Given the description of an element on the screen output the (x, y) to click on. 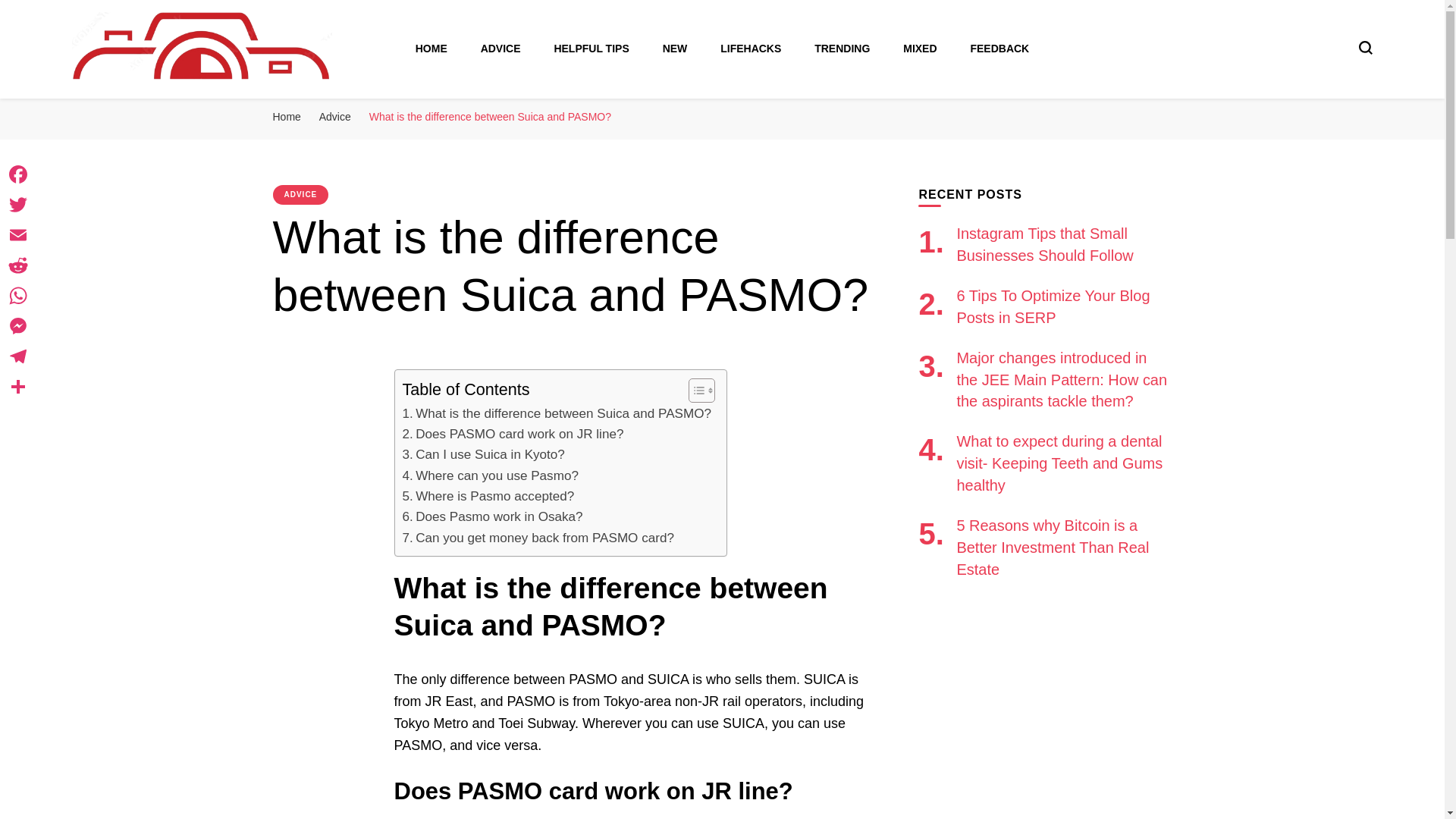
Ventolaphotography.com (315, 110)
What is the difference between Suica and PASMO? (556, 413)
LIFEHACKS (750, 48)
Where is Pasmo accepted? (487, 496)
Does PASMO card work on JR line? (512, 434)
Can I use Suica in Kyoto? (482, 454)
Can I use Suica in Kyoto? (482, 454)
Advice (334, 116)
NEW (674, 48)
Can you get money back from PASMO card? (536, 537)
